Given the description of an element on the screen output the (x, y) to click on. 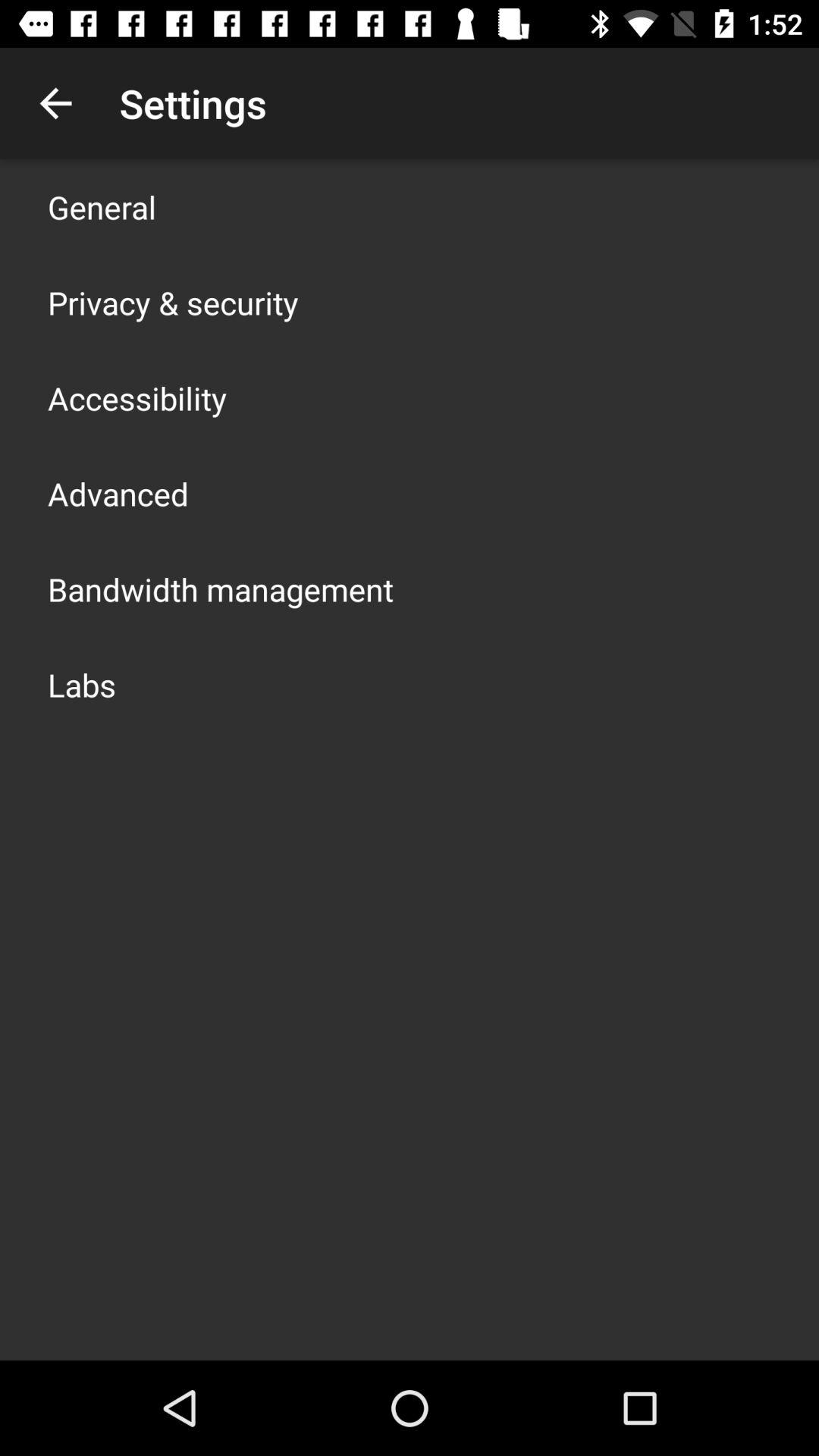
choose the icon below the accessibility app (117, 493)
